Given the description of an element on the screen output the (x, y) to click on. 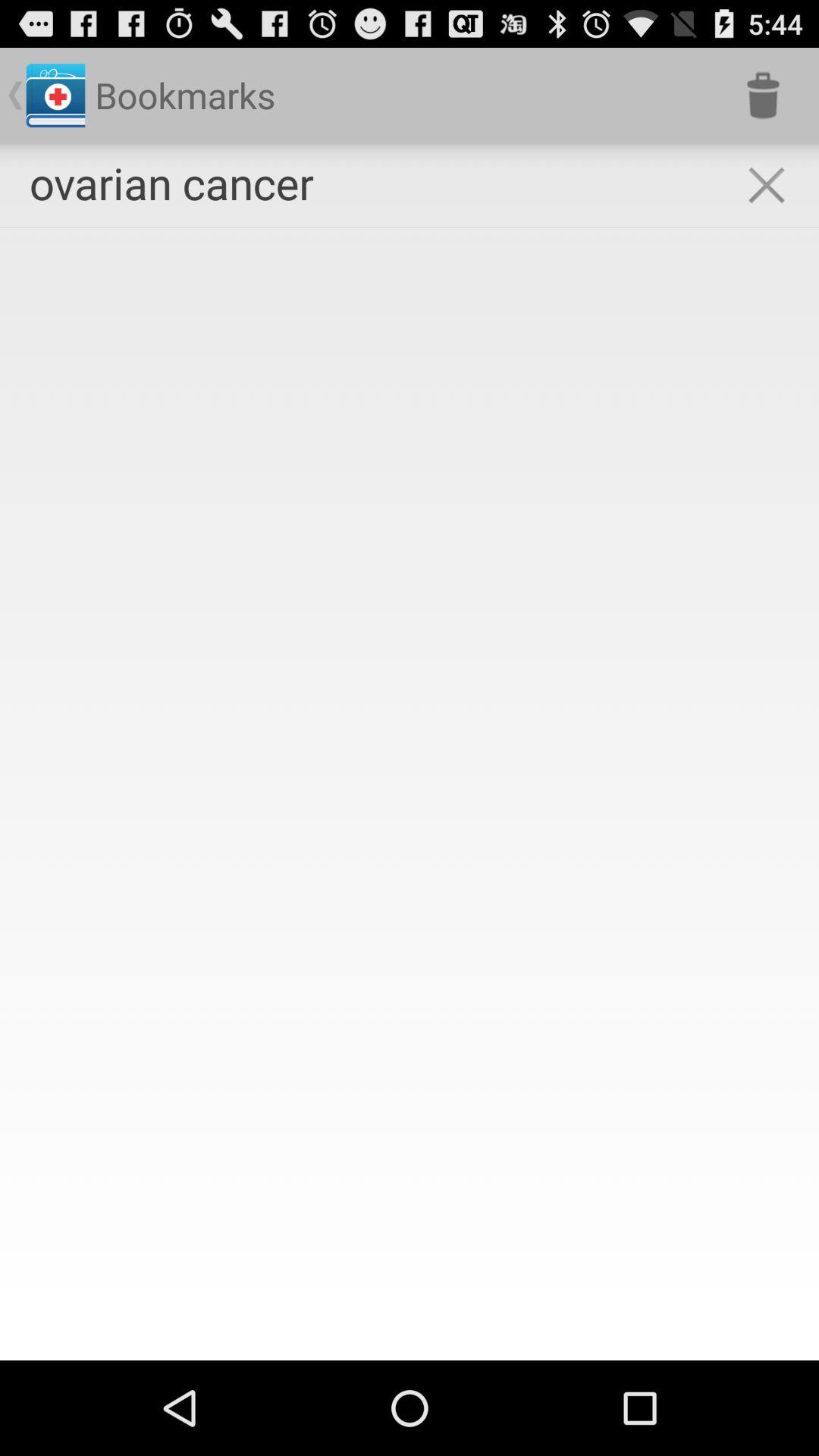
choose icon next to ovarian cancer icon (763, 95)
